Given the description of an element on the screen output the (x, y) to click on. 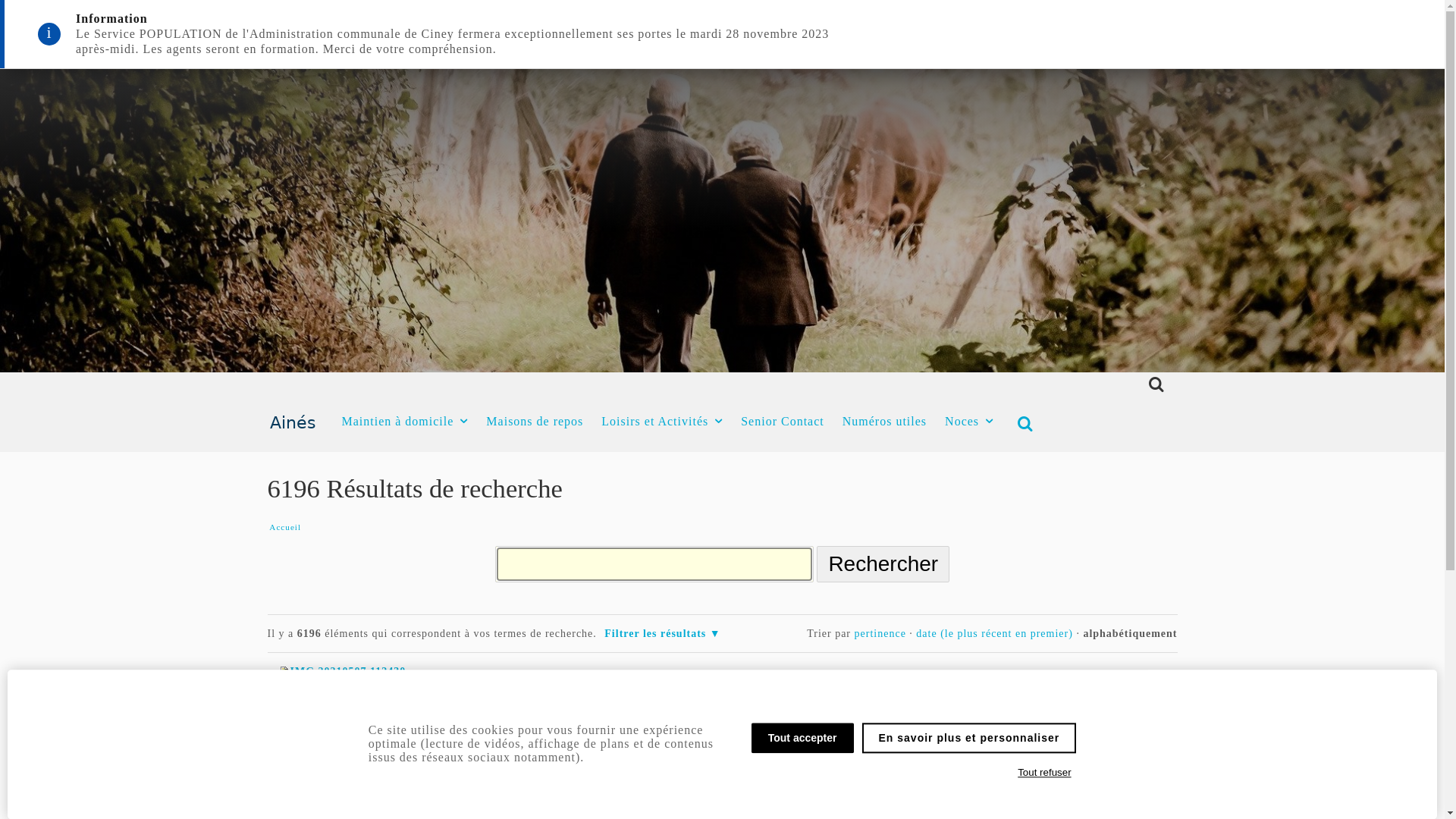
Environnement Element type: text (392, 729)
Tout refuser Element type: text (1044, 772)
Noces Element type: text (968, 421)
Images Element type: text (559, 687)
Accueil Element type: text (285, 527)
Chercher Element type: text (1021, 424)
Cartes territoires 2023 2024 Element type: text (357, 798)
Chercher Element type: text (1151, 384)
IMG 20210507 112430 Element type: text (341, 671)
Tout accepter Element type: text (802, 737)
Environnement Element type: text (392, 687)
Chercher dans le site Element type: hover (654, 564)
pertinence Element type: text (880, 633)
Images Element type: text (295, 713)
Maisons de repos Element type: text (534, 421)
Calendrier chasse 2023 2024 Element type: text (358, 756)
Senior Contact Element type: text (782, 421)
En savoir plus et personnaliser Element type: text (968, 737)
Rechercher Element type: text (882, 564)
